Given the description of an element on the screen output the (x, y) to click on. 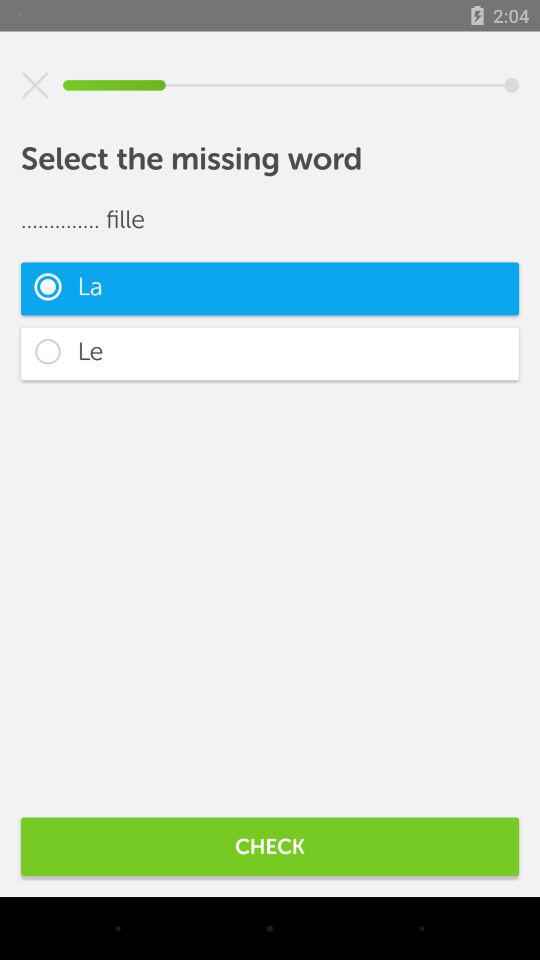
select la (270, 288)
